Given the description of an element on the screen output the (x, y) to click on. 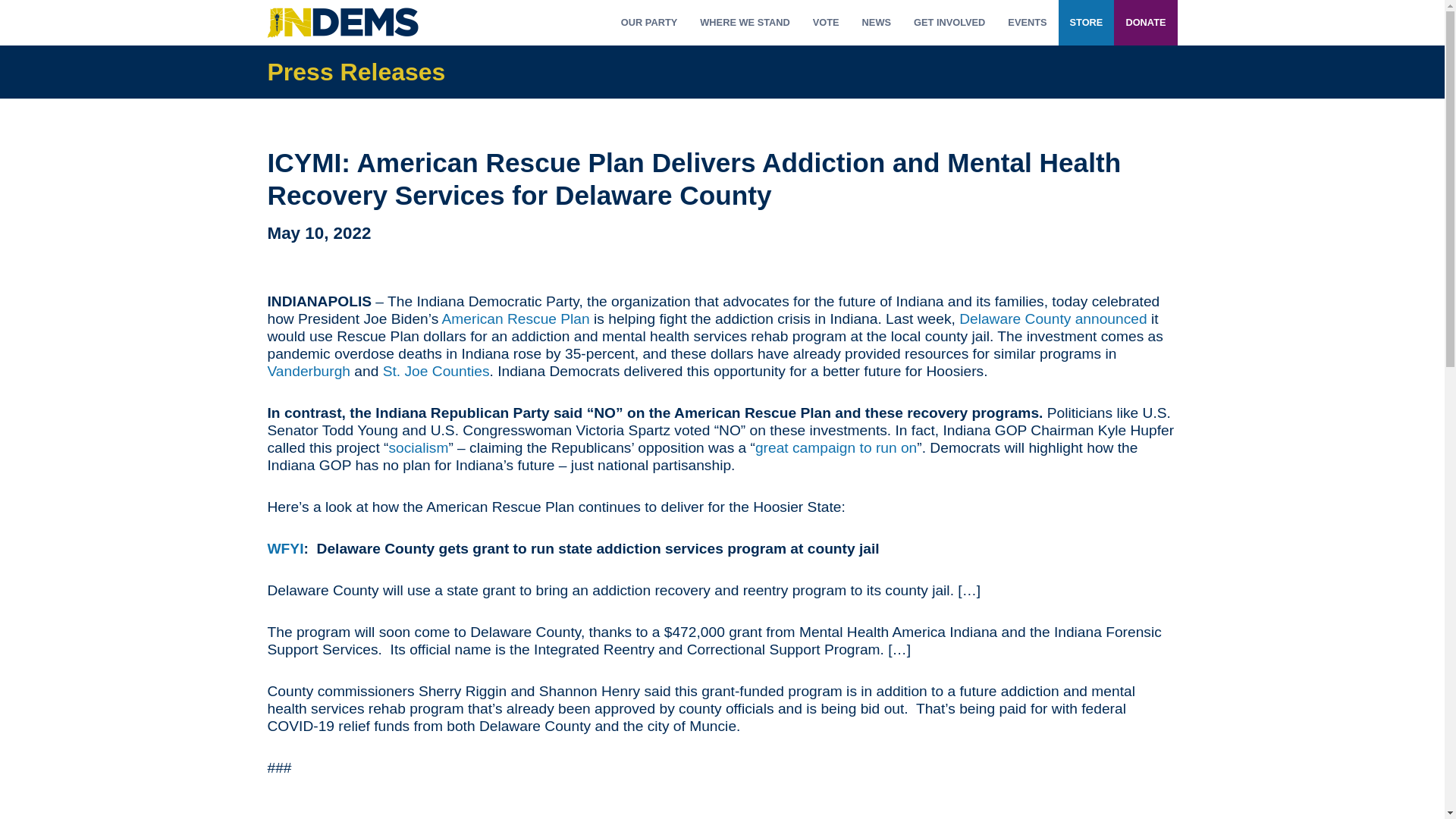
WHERE WE STAND (744, 22)
DONATE (1144, 22)
GET INVOLVED (948, 22)
STORE (1086, 22)
Vanderburgh (308, 371)
WFYI (284, 548)
INDIANA DEMOCRATIC PARTY (341, 22)
socialism (418, 447)
NEWS (876, 22)
EVENTS (1026, 22)
VOTE (826, 22)
St. Joe Counties (435, 371)
great campaign to run on (836, 447)
American Rescue Plan (515, 318)
Delaware County announced (1053, 318)
